Given the description of an element on the screen output the (x, y) to click on. 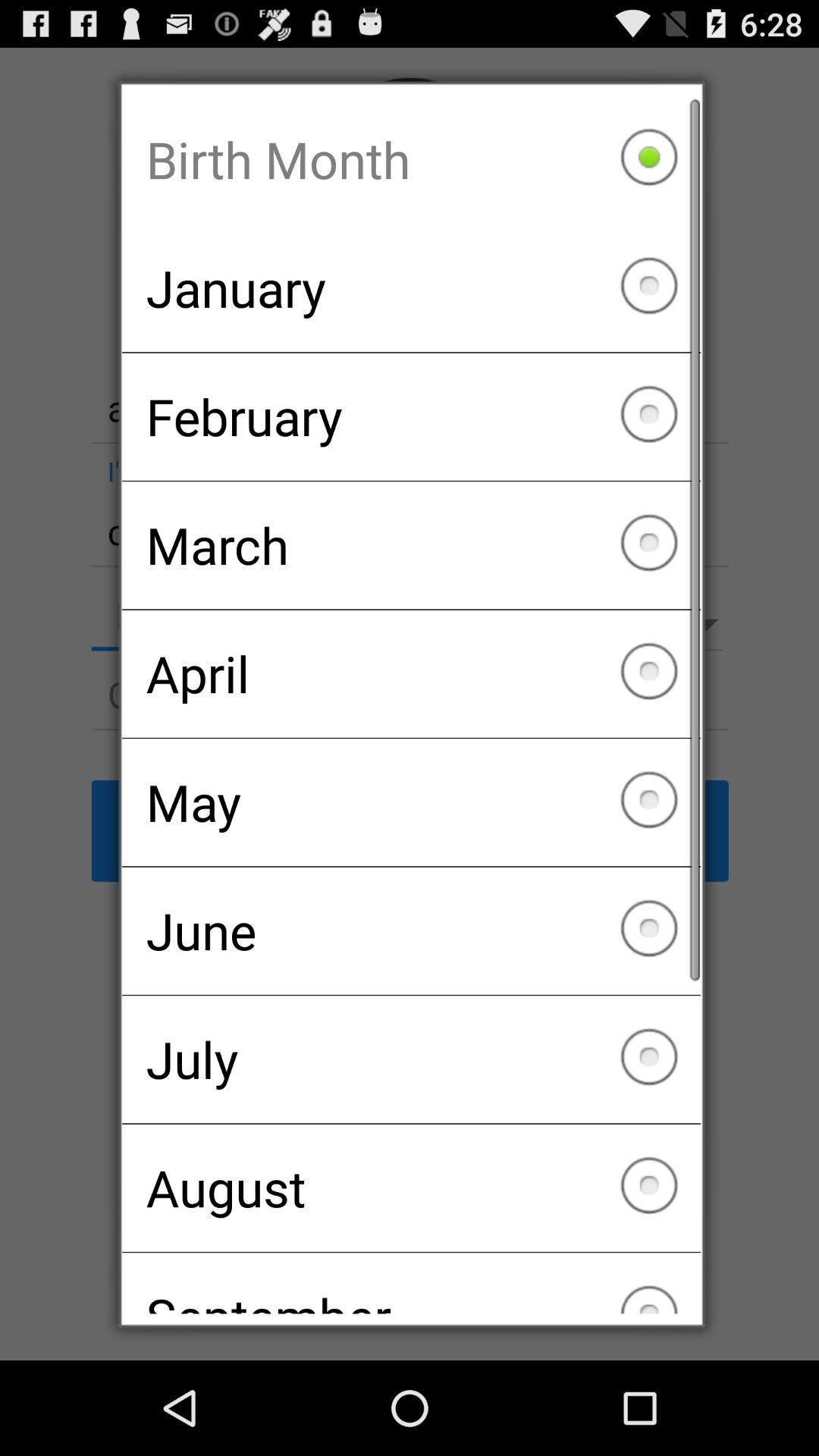
jump to the august icon (411, 1187)
